Given the description of an element on the screen output the (x, y) to click on. 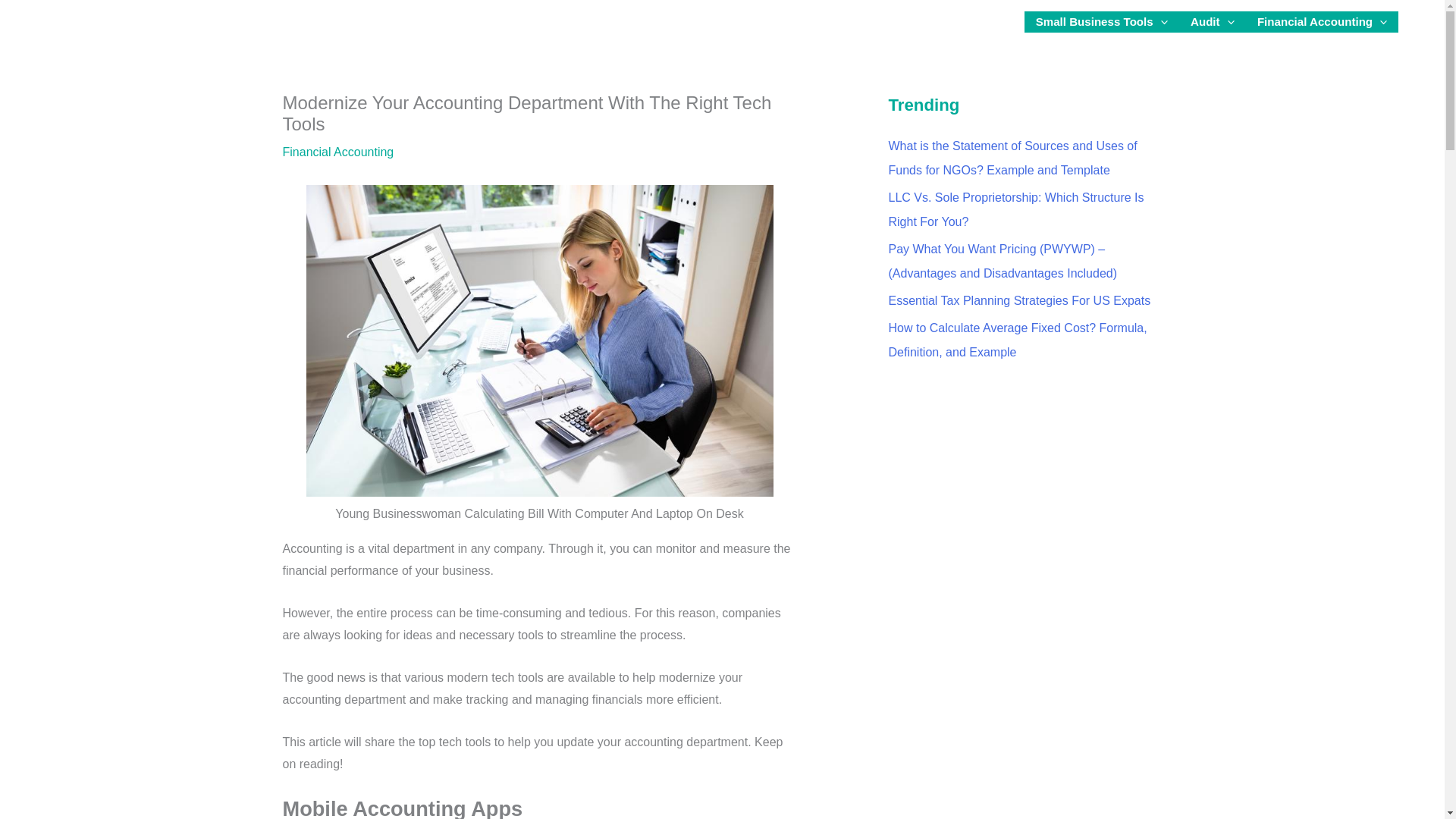
Small Business Tools (1102, 21)
Financial Accounting (1322, 21)
Audit (1212, 21)
Wikiaccounting (73, 21)
